Given the description of an element on the screen output the (x, y) to click on. 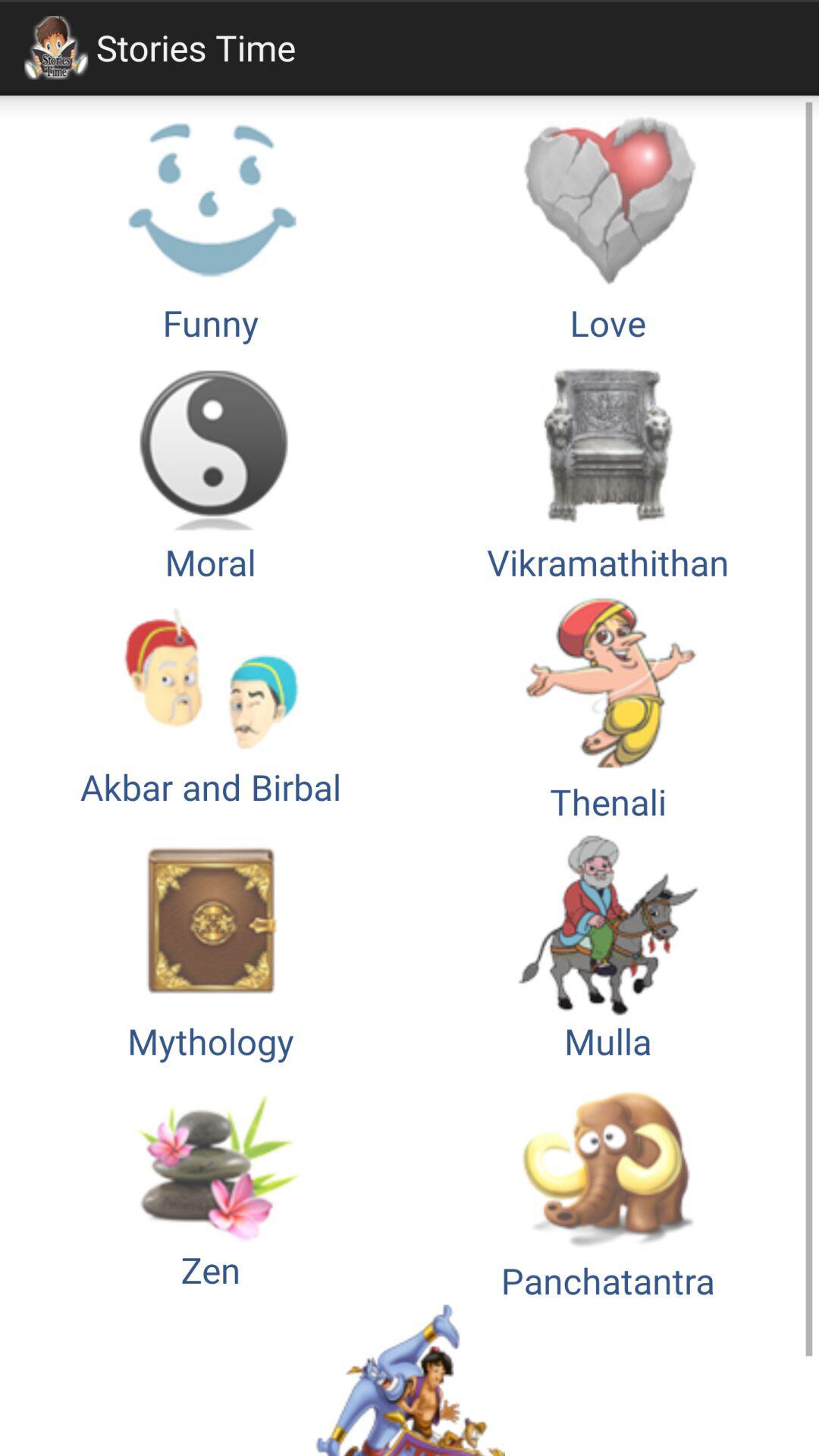
launch the item below the funny icon (608, 466)
